Given the description of an element on the screen output the (x, y) to click on. 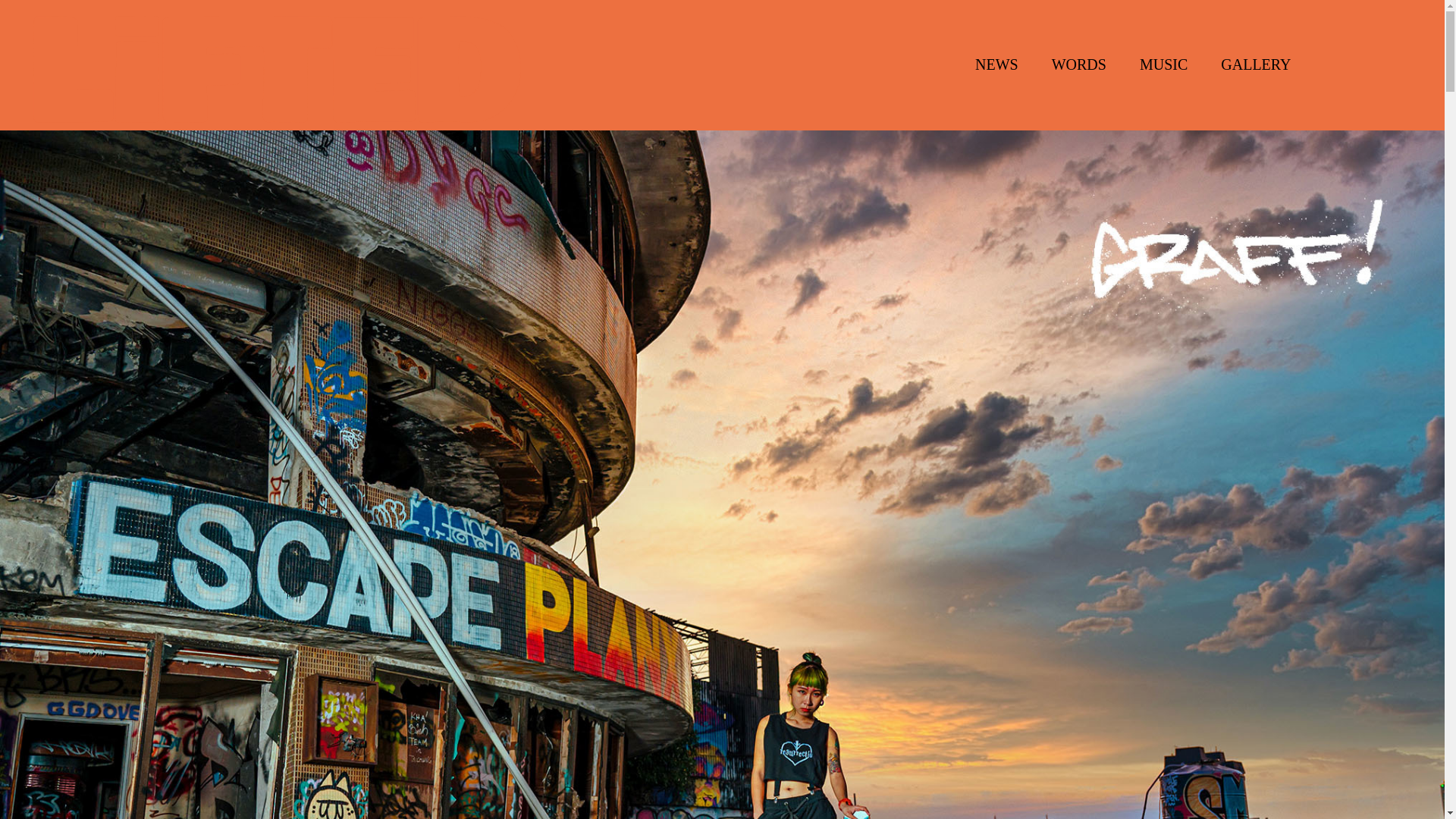
MUSIC (1164, 64)
WORDS (1078, 64)
NEWS (996, 64)
GALLERY (1255, 64)
